Given the description of an element on the screen output the (x, y) to click on. 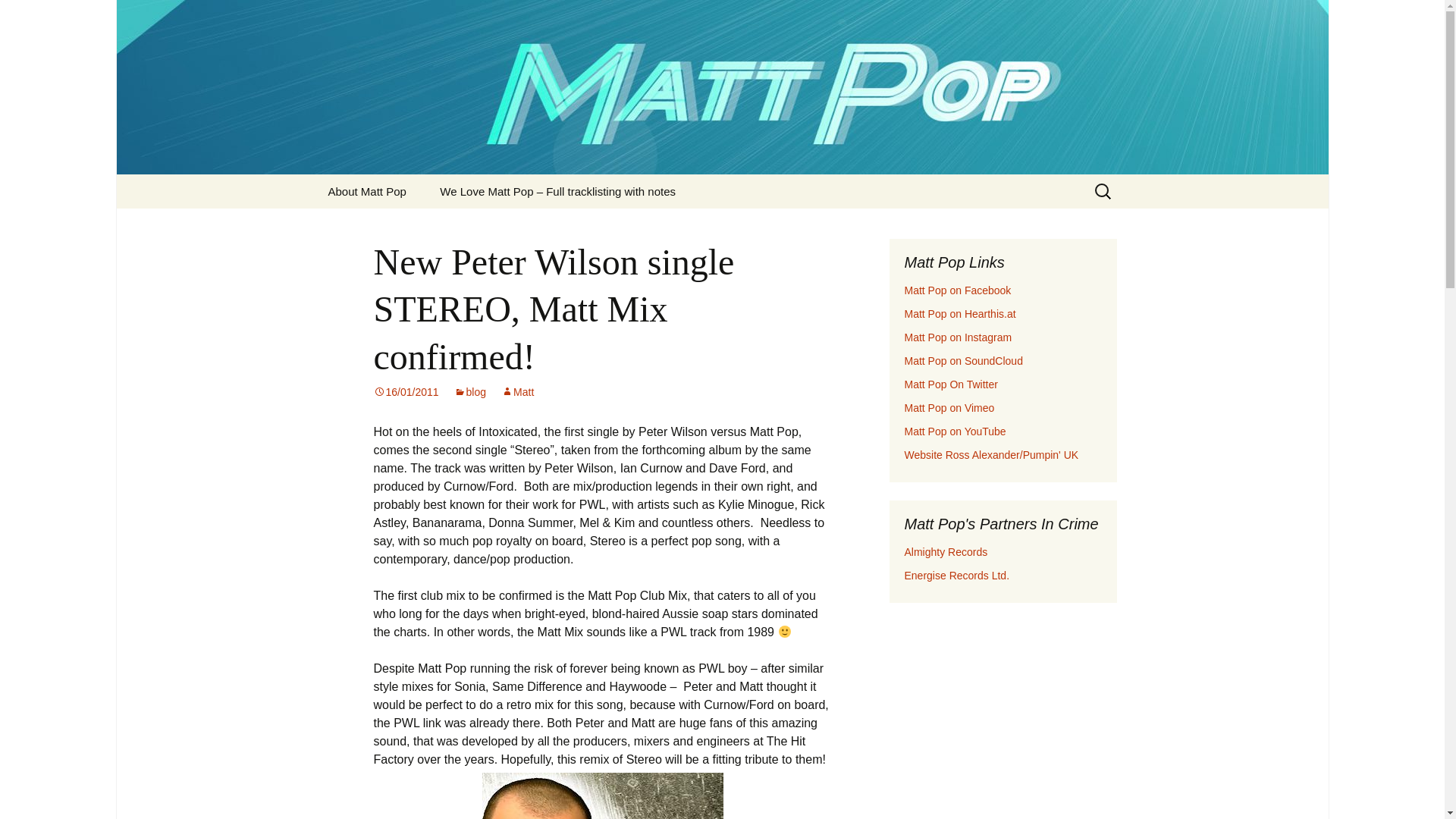
View all posts by Matt (517, 391)
Matt Pop on Instagram (957, 337)
Energise Records Ltd. (956, 575)
Matt Pop On Twitter (950, 384)
Matt Pop on Vimeo (949, 408)
Matt Pop mixes; official ones, bootlegs and playlists (963, 360)
Matt (517, 391)
Matt Pop on SoundCloud (963, 360)
blog (470, 391)
About Matt Pop (366, 191)
Official Twitter account of Matt Pop (950, 384)
Matt Pop on Facebook (957, 290)
